Given the description of an element on the screen output the (x, y) to click on. 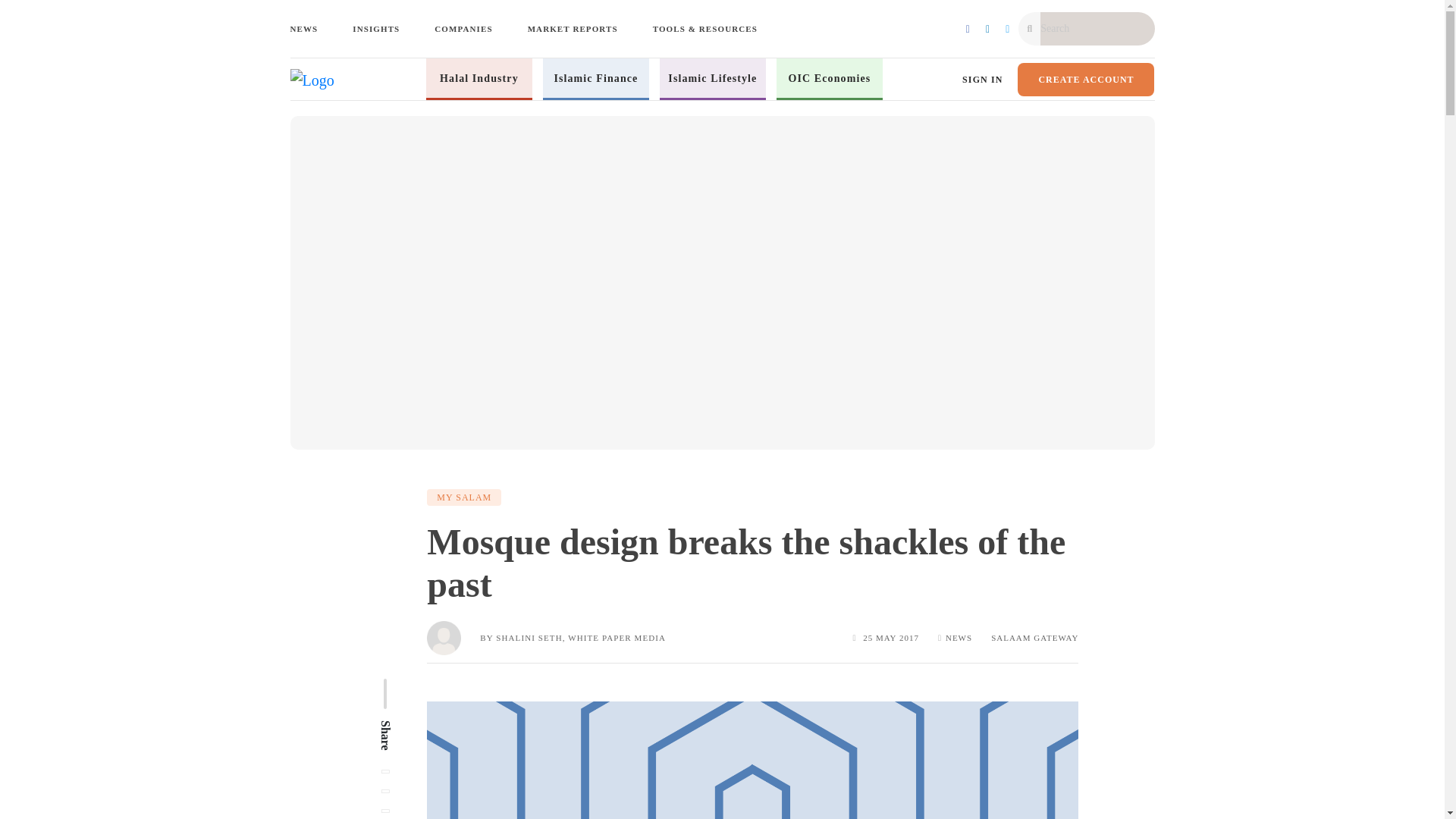
NEWS (306, 28)
Halal Industry (478, 77)
Islamic Lifestyle (712, 77)
OIC Economies (829, 77)
SIGN IN (982, 79)
Islamic Finance (595, 77)
INSIGHTS (376, 28)
COMPANIES (462, 28)
MARKET REPORTS (572, 28)
CREATE ACCOUNT (1085, 78)
